Given the description of an element on the screen output the (x, y) to click on. 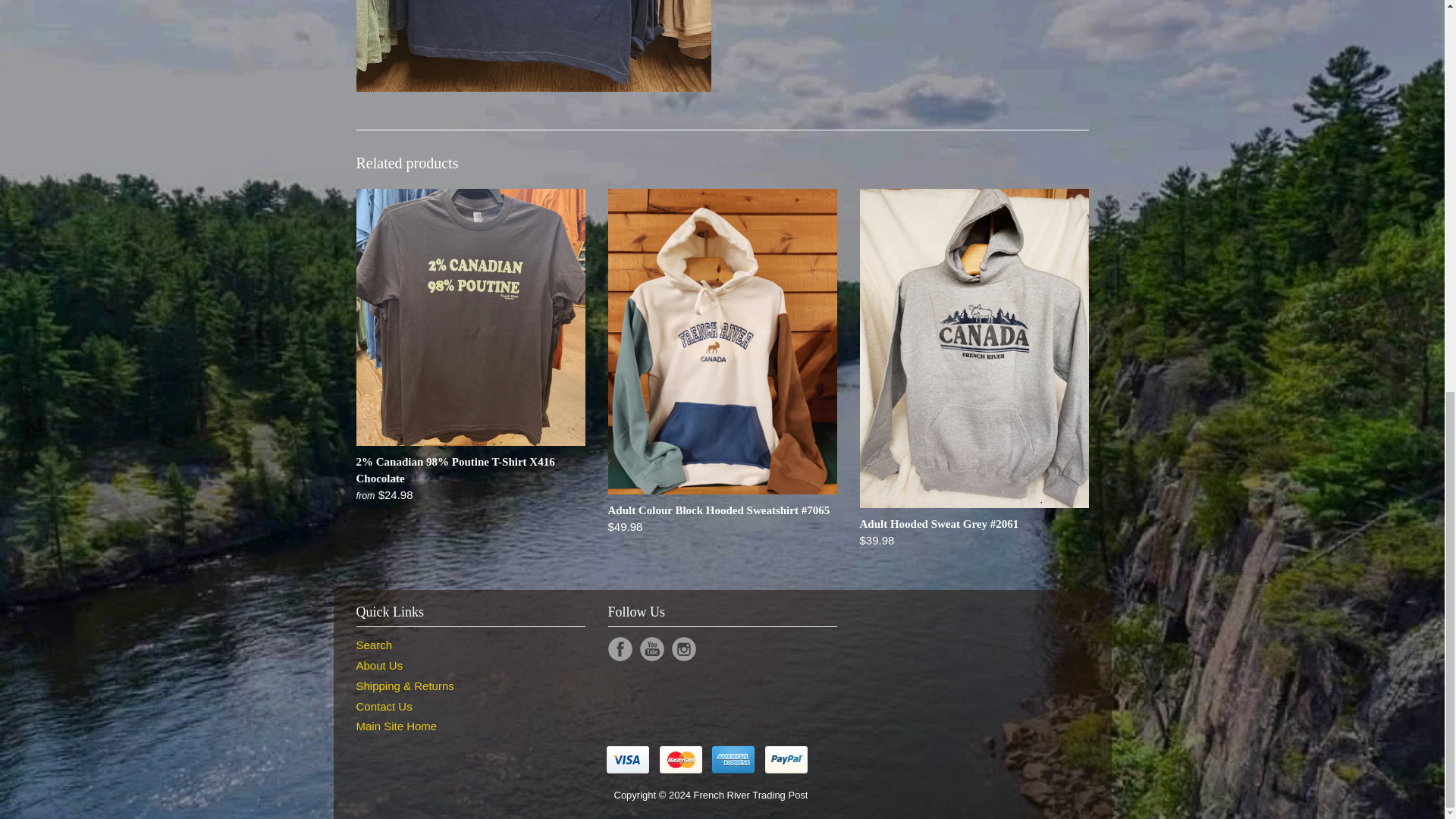
Main Site Home (397, 725)
Search (374, 644)
French River Trading Post on YouTube (651, 648)
About Us (379, 665)
Contact Us (384, 706)
French River Trading Post on Instagram (683, 648)
French River Trading Post on Facebook (619, 648)
Main Site Home (397, 725)
Search (374, 644)
Instagram (683, 648)
Contact Us (384, 706)
Facebook (619, 648)
YouTube (651, 648)
About Us (379, 665)
